Given the description of an element on the screen output the (x, y) to click on. 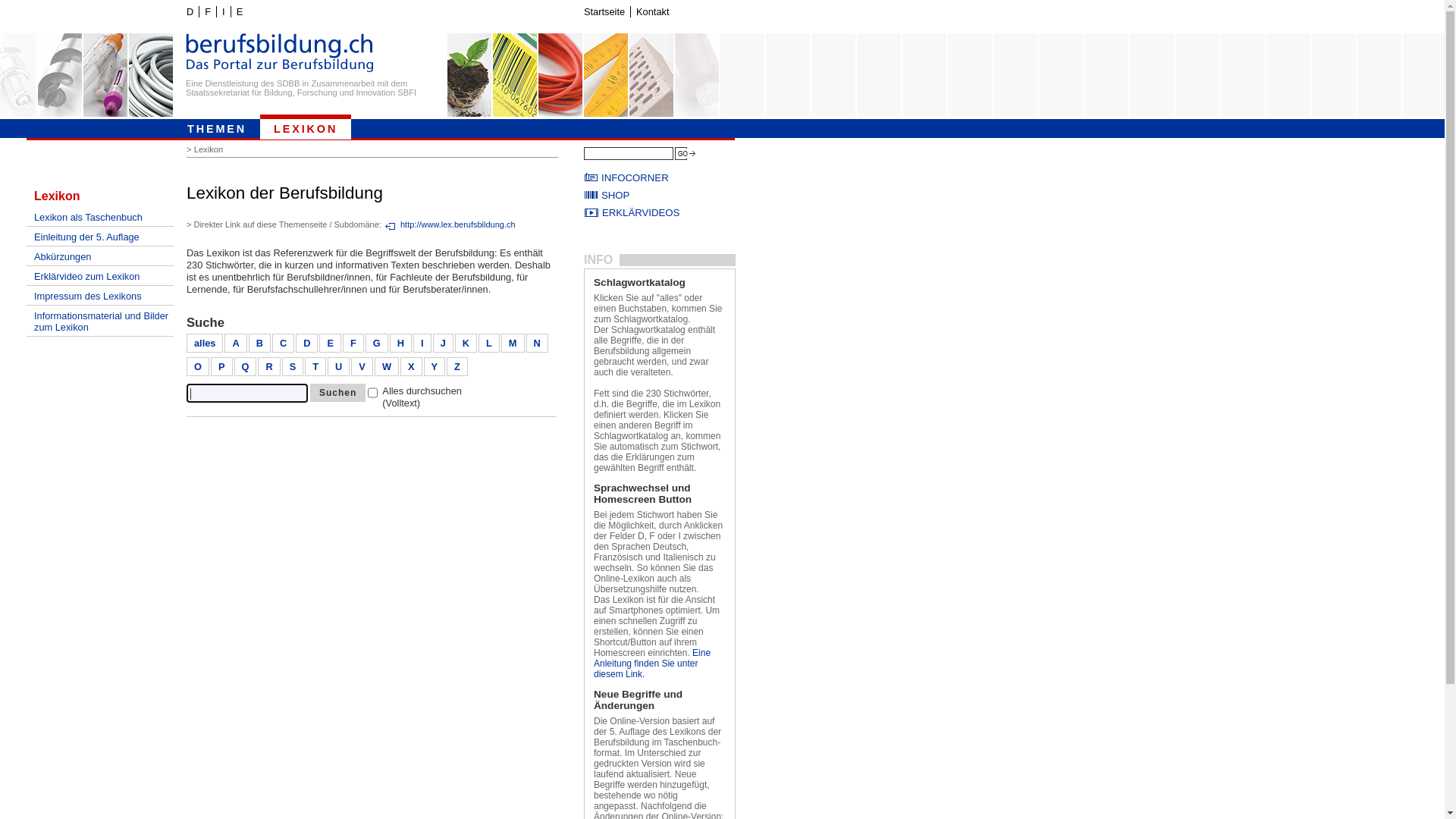
Lexikon Element type: text (210, 148)
I Element type: text (223, 11)
F Element type: text (207, 11)
P Element type: text (221, 366)
http://www.lex.berufsbildung.ch Element type: text (449, 224)
THEMEN Element type: text (216, 126)
U Element type: text (338, 366)
D Element type: text (189, 11)
C Element type: text (283, 342)
S Element type: text (293, 366)
M Element type: text (512, 342)
Lexikon Element type: text (99, 196)
O Element type: text (197, 366)
X Element type: text (411, 366)
Q Element type: text (245, 366)
W Element type: text (386, 366)
H Element type: text (400, 342)
Y Element type: text (434, 366)
G Element type: text (376, 342)
B Element type: text (259, 342)
Startseite Element type: text (603, 11)
INFOCORNER Element type: text (659, 177)
Einleitung der 5. Auflage Element type: text (99, 236)
Z Element type: text (456, 366)
E Element type: text (330, 342)
N Element type: text (537, 342)
Informationsmaterial und Bilder zum Lexikon Element type: text (99, 320)
LEXIKON Element type: text (305, 126)
Kontakt Element type: text (652, 11)
E Element type: text (239, 11)
K Element type: text (465, 342)
I Element type: text (422, 342)
Lexikon als Taschenbuch Element type: text (99, 216)
Suchen Element type: text (337, 392)
T Element type: text (315, 366)
alles Element type: text (204, 342)
J Element type: text (443, 342)
R Element type: text (268, 366)
A Element type: text (235, 342)
V Element type: text (362, 366)
F Element type: text (353, 342)
L Element type: text (488, 342)
D Element type: text (306, 342)
Impressum des Lexikons Element type: text (99, 295)
SHOP Element type: text (659, 195)
Eine Anleitung finden Sie unter diesem Link. Element type: text (651, 663)
